Given the description of an element on the screen output the (x, y) to click on. 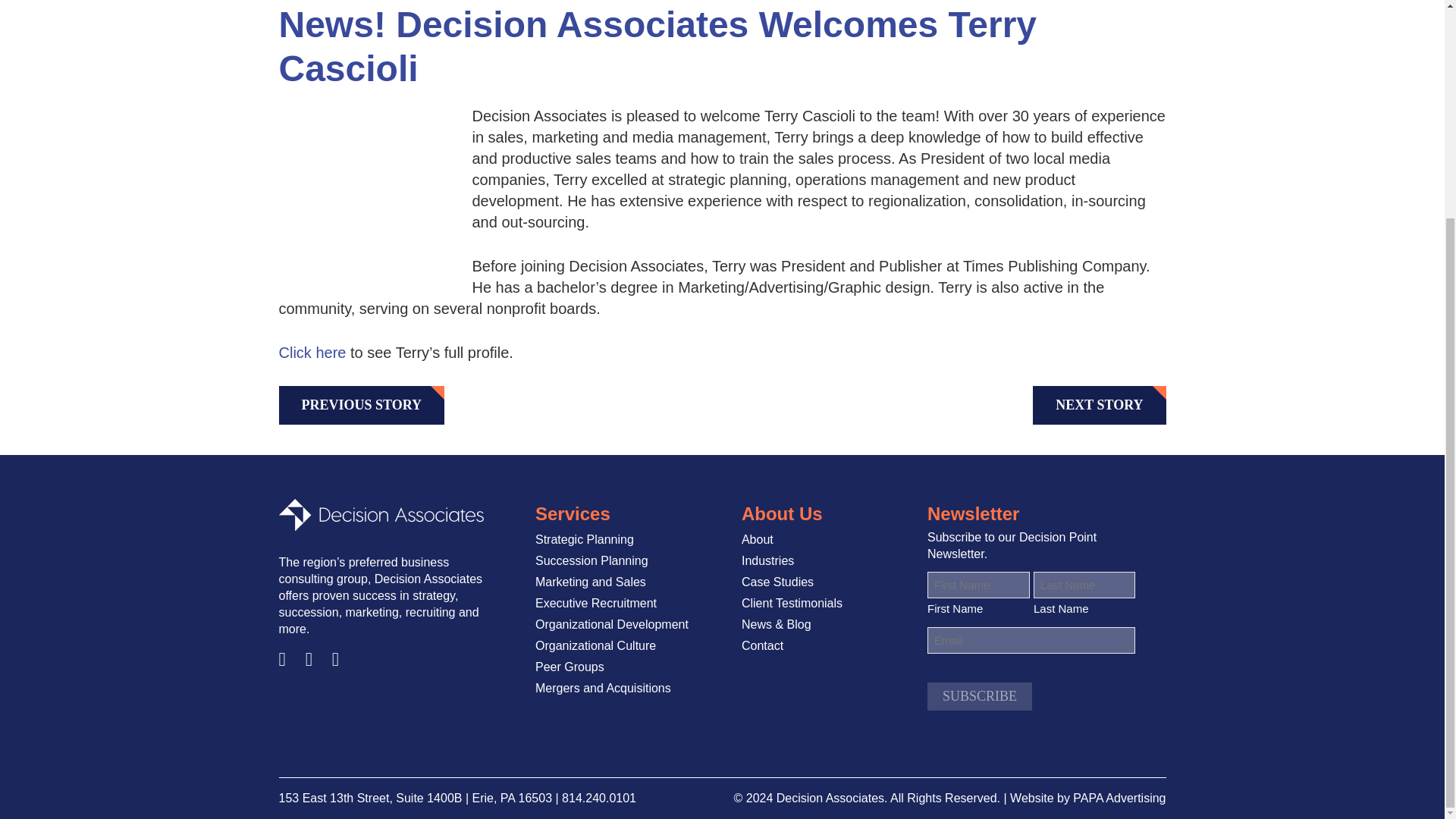
Industries (767, 560)
SUBSCRIBE (979, 696)
Succession Planning (591, 560)
Strategic Planning (584, 539)
About (757, 539)
PREVIOUS STORY (362, 405)
Peer Groups (569, 667)
Executive Recruitment (595, 603)
Client Testimonials (792, 603)
NEXT STORY (1099, 405)
